Given the description of an element on the screen output the (x, y) to click on. 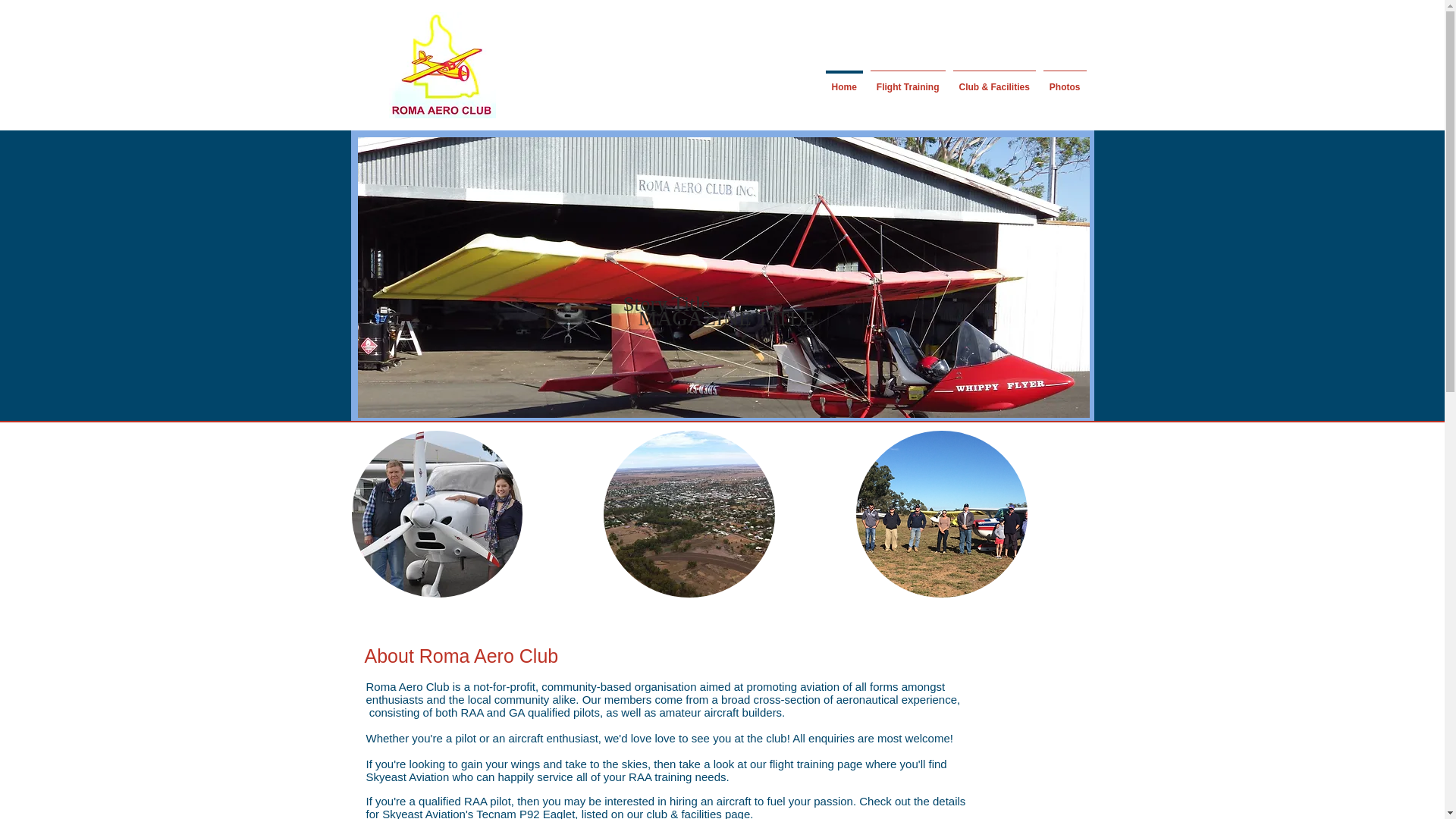
IMGP0526.JPG (441, 64)
Flight Training (907, 80)
Photos (1064, 80)
Home (844, 80)
